Given the description of an element on the screen output the (x, y) to click on. 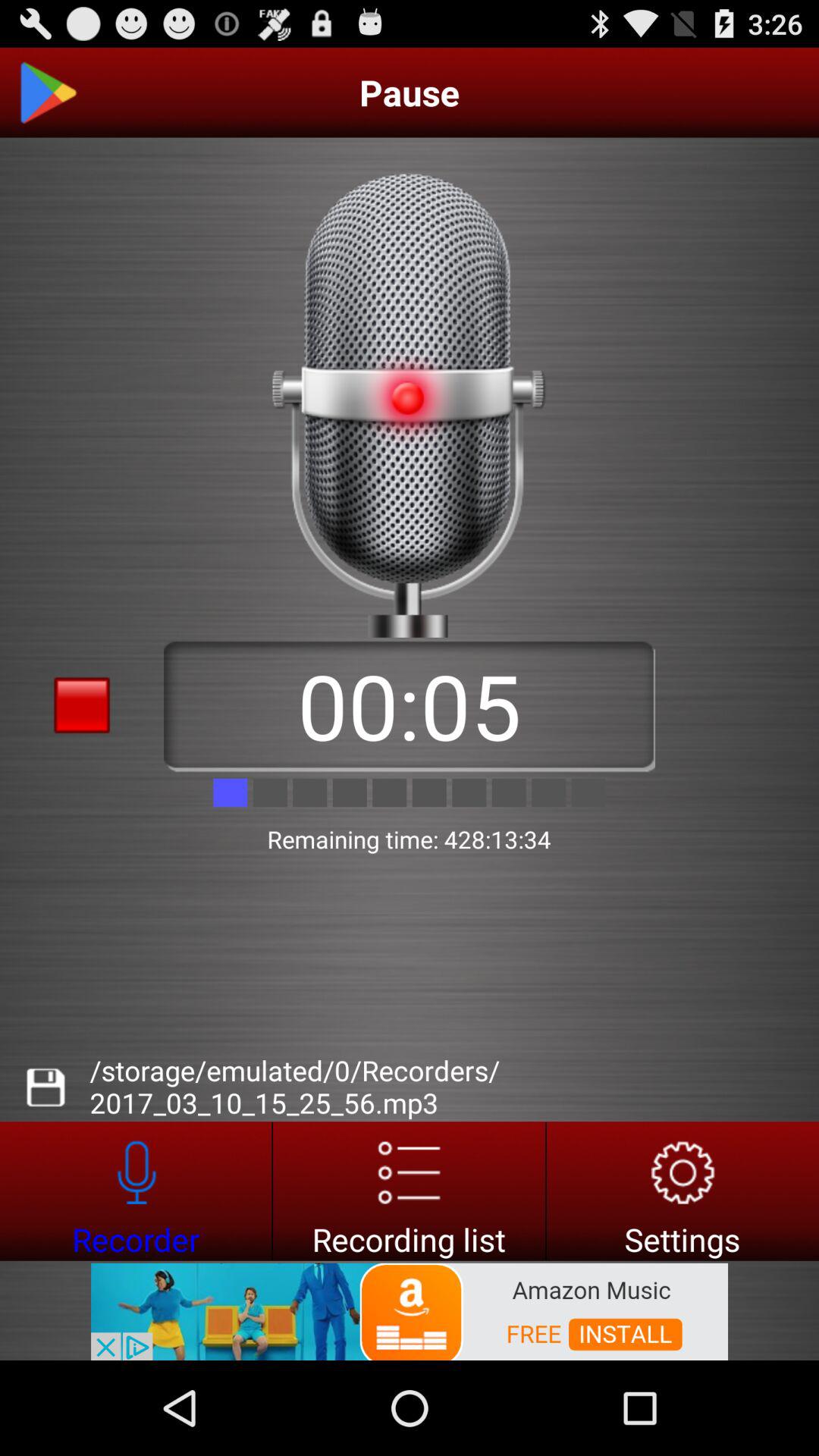
view the advertisement (409, 1310)
